Given the description of an element on the screen output the (x, y) to click on. 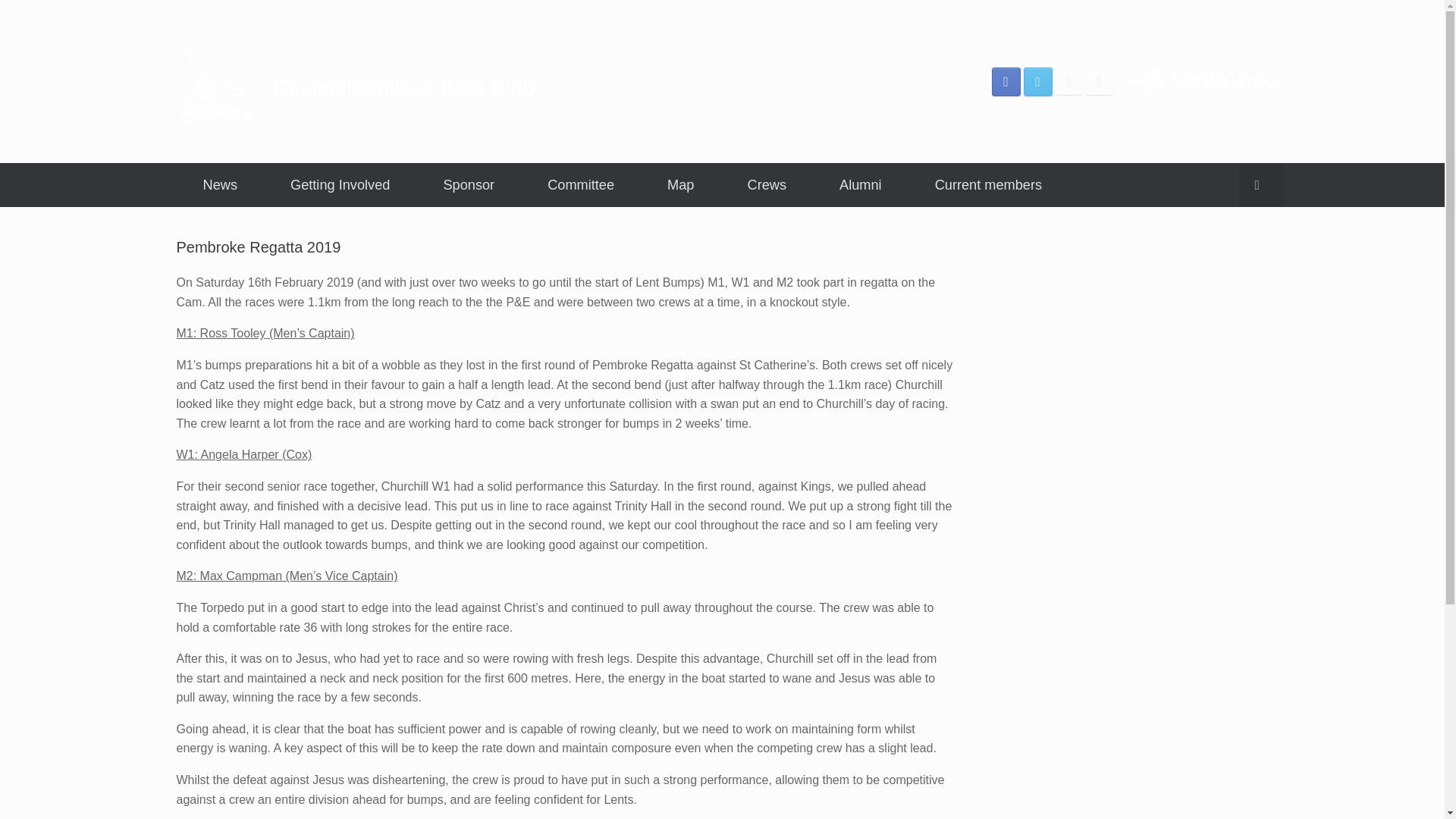
Committee (580, 184)
CCBC Facebook (1005, 80)
CCBC (360, 81)
Current members (988, 184)
CCBC Twitter (1037, 80)
Pembroke Regatta 2019 (258, 247)
News (219, 184)
Permalink to Pembroke Regatta 2019 (258, 247)
Getting Involved (339, 184)
Alumni (860, 184)
CCBC Instagram (1069, 80)
Sponsor (468, 184)
CCBC YouTube (1099, 80)
Map (680, 184)
News (219, 184)
